Given the description of an element on the screen output the (x, y) to click on. 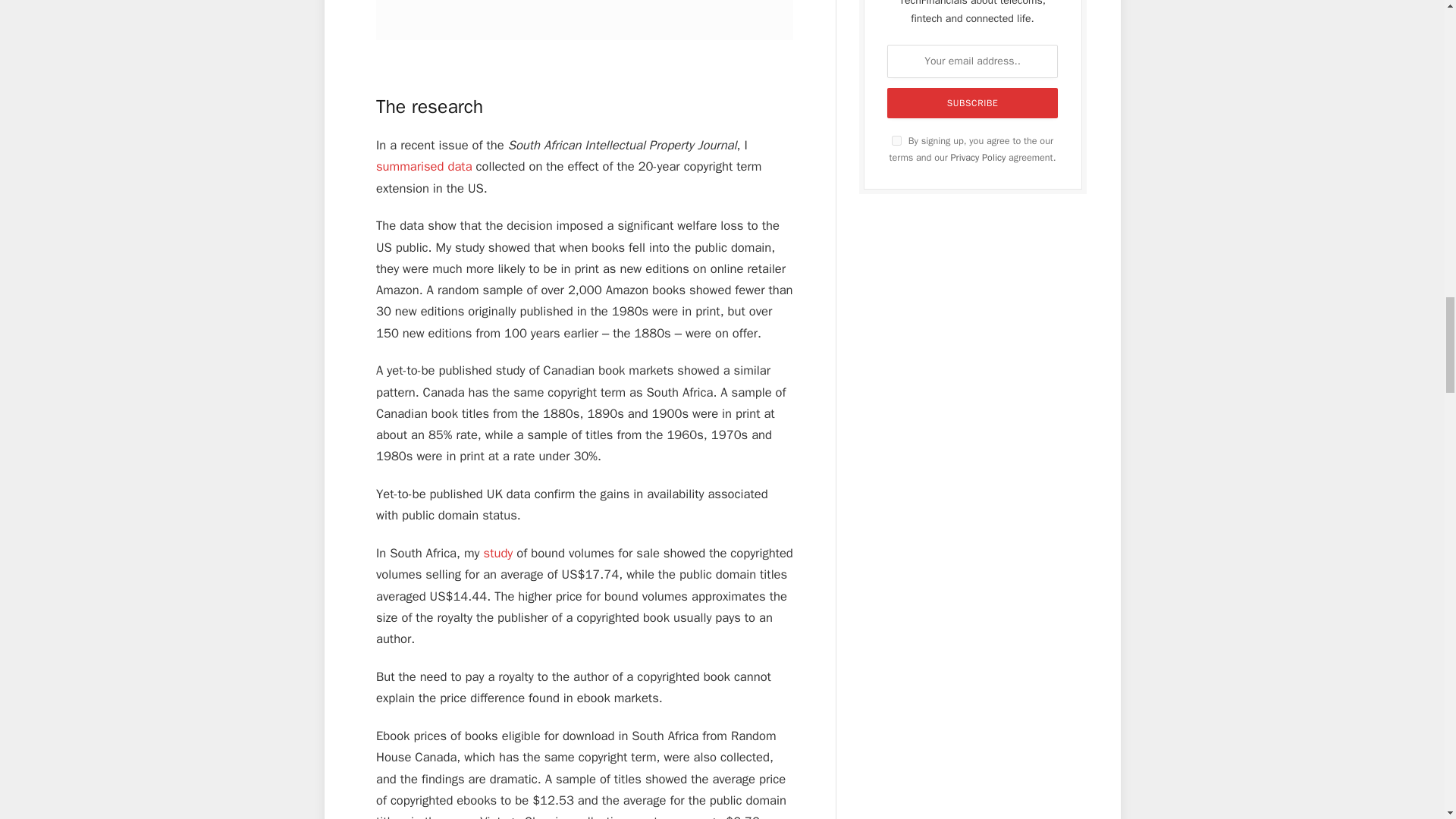
on (896, 140)
Subscribe (972, 102)
